Given the description of an element on the screen output the (x, y) to click on. 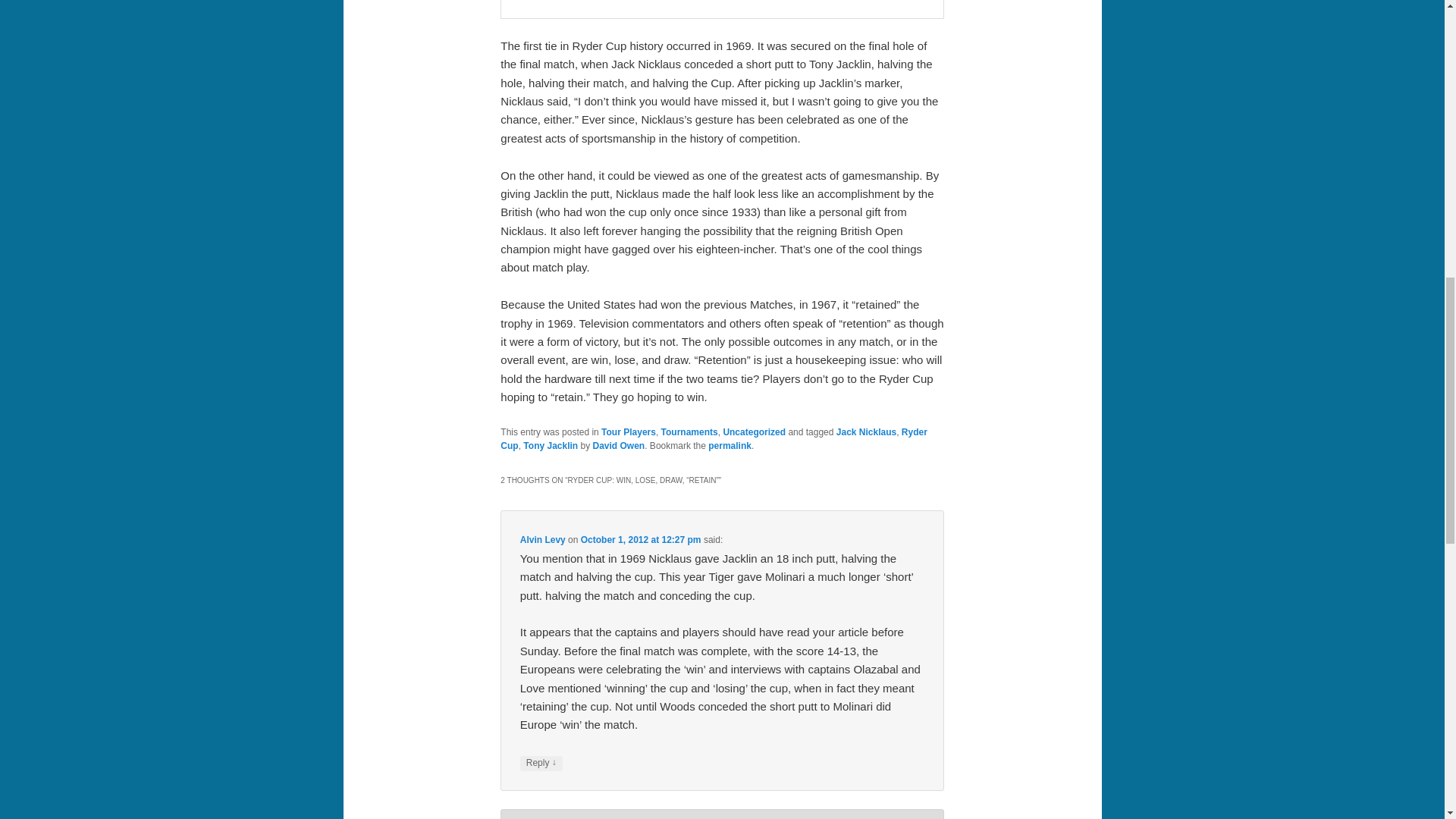
Alvin Levy (542, 539)
David Owen (618, 445)
Uncategorized (754, 431)
Tour Players (628, 431)
Tournaments (689, 431)
Tony Jacklin (550, 445)
October 1, 2012 at 12:27 pm (640, 539)
Jack Nicklaus (865, 431)
trophy (721, 9)
permalink (729, 445)
Ryder Cup (713, 438)
